Given the description of an element on the screen output the (x, y) to click on. 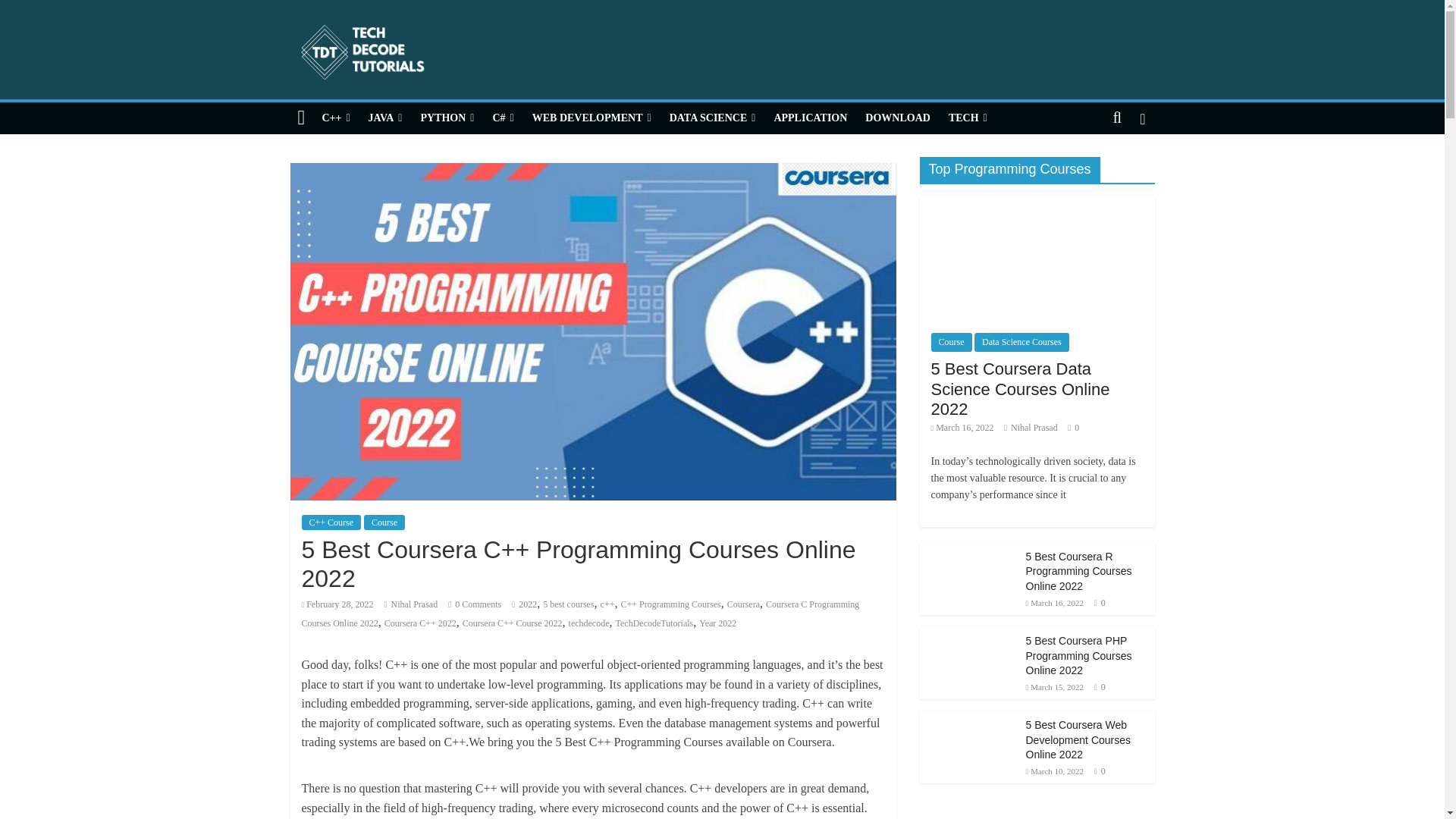
APPLICATION (810, 118)
5 Best Coursera Data Science Courses Online 2022 (1020, 388)
DATA SCIENCE (713, 118)
5 Best Coursera Data Science Courses Online 2022 (1036, 203)
12:26 PM (337, 603)
5 Best Coursera Data Science Courses Online 2022 (1036, 257)
TECH (967, 118)
Nihal Prasad (414, 603)
JAVA (385, 118)
DOWNLOAD (897, 118)
WEB DEVELOPMENT (591, 118)
PYTHON (446, 118)
